Given the description of an element on the screen output the (x, y) to click on. 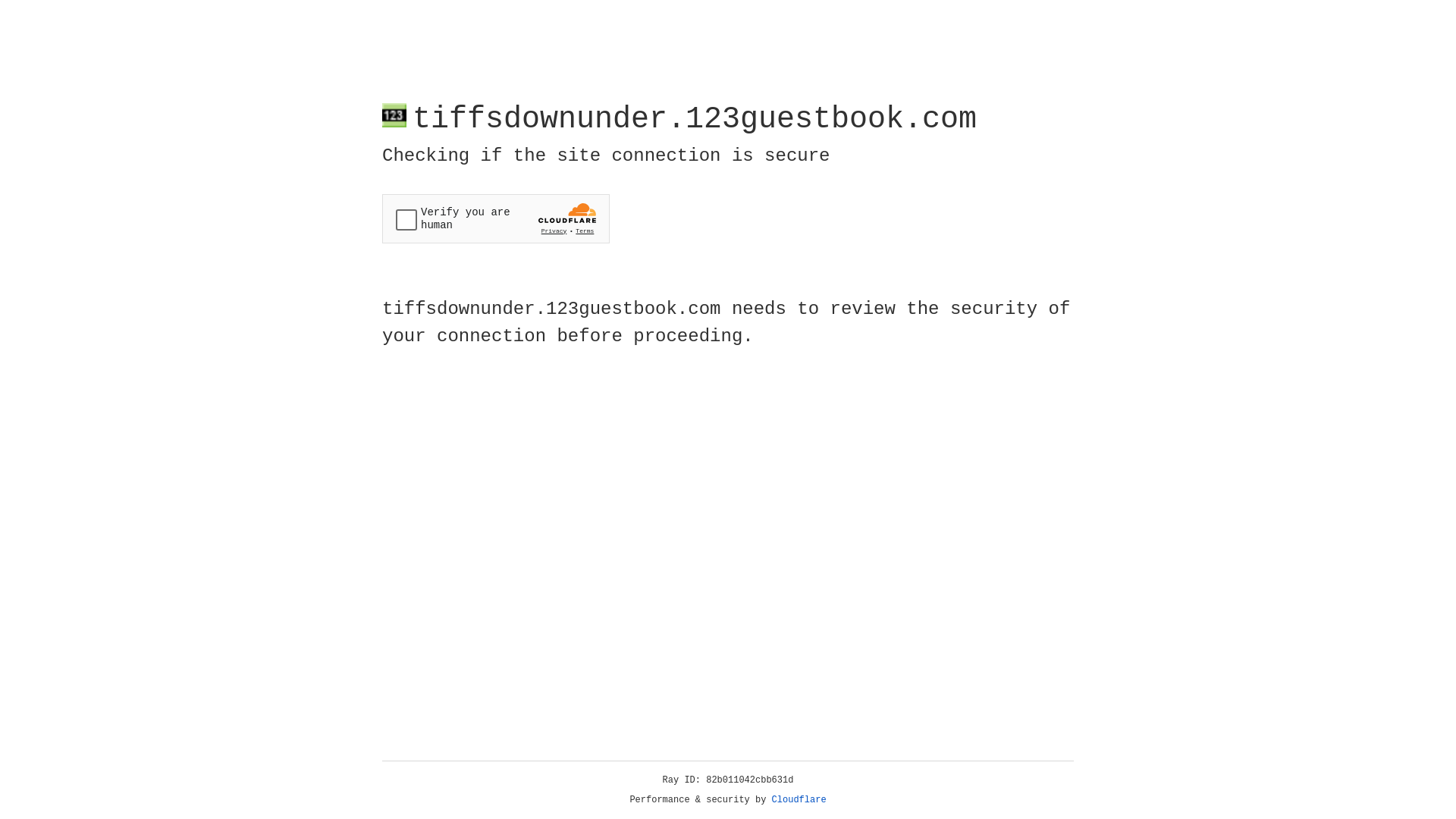
Widget containing a Cloudflare security challenge Element type: hover (495, 218)
Cloudflare Element type: text (798, 799)
